Given the description of an element on the screen output the (x, y) to click on. 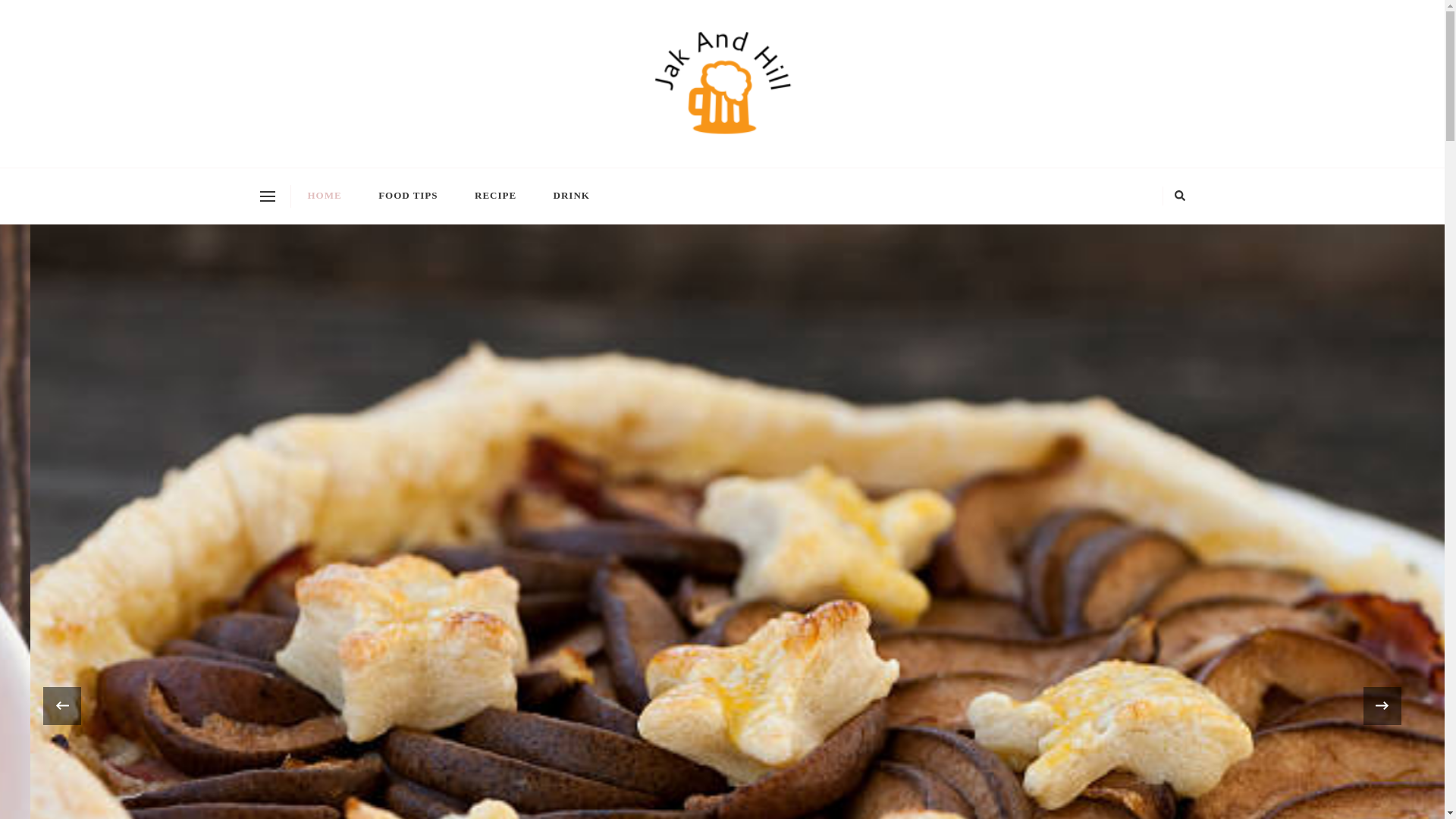
RECIPE Element type: text (495, 195)
Search Element type: text (976, 195)
DRINK Element type: text (571, 195)
HOME Element type: text (324, 195)
FOOD TIPS Element type: text (407, 195)
